Given the description of an element on the screen output the (x, y) to click on. 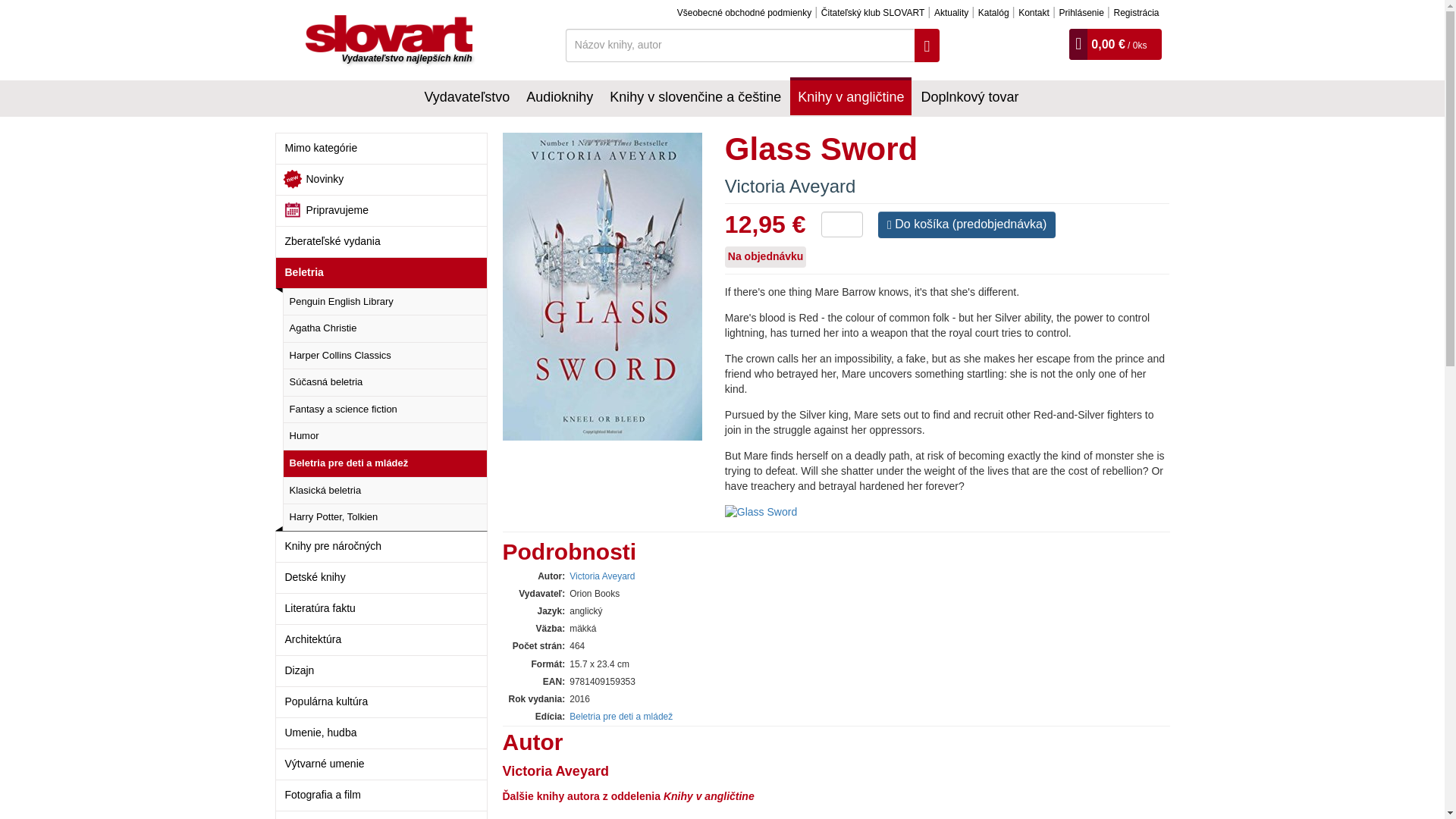
Audioknihy (558, 95)
Humor (384, 435)
Pripravujeme (380, 210)
Harper Collins Classics (384, 355)
Umenie, hudba (380, 732)
Aktuality (951, 12)
Agatha Christie (384, 328)
Harry Potter, Tolkien (384, 516)
Dizajn (380, 670)
Kontakt (1033, 12)
Novinky (380, 178)
Fantasy a science fiction (384, 409)
Penguin English Library (384, 301)
Beletria (380, 272)
